Given the description of an element on the screen output the (x, y) to click on. 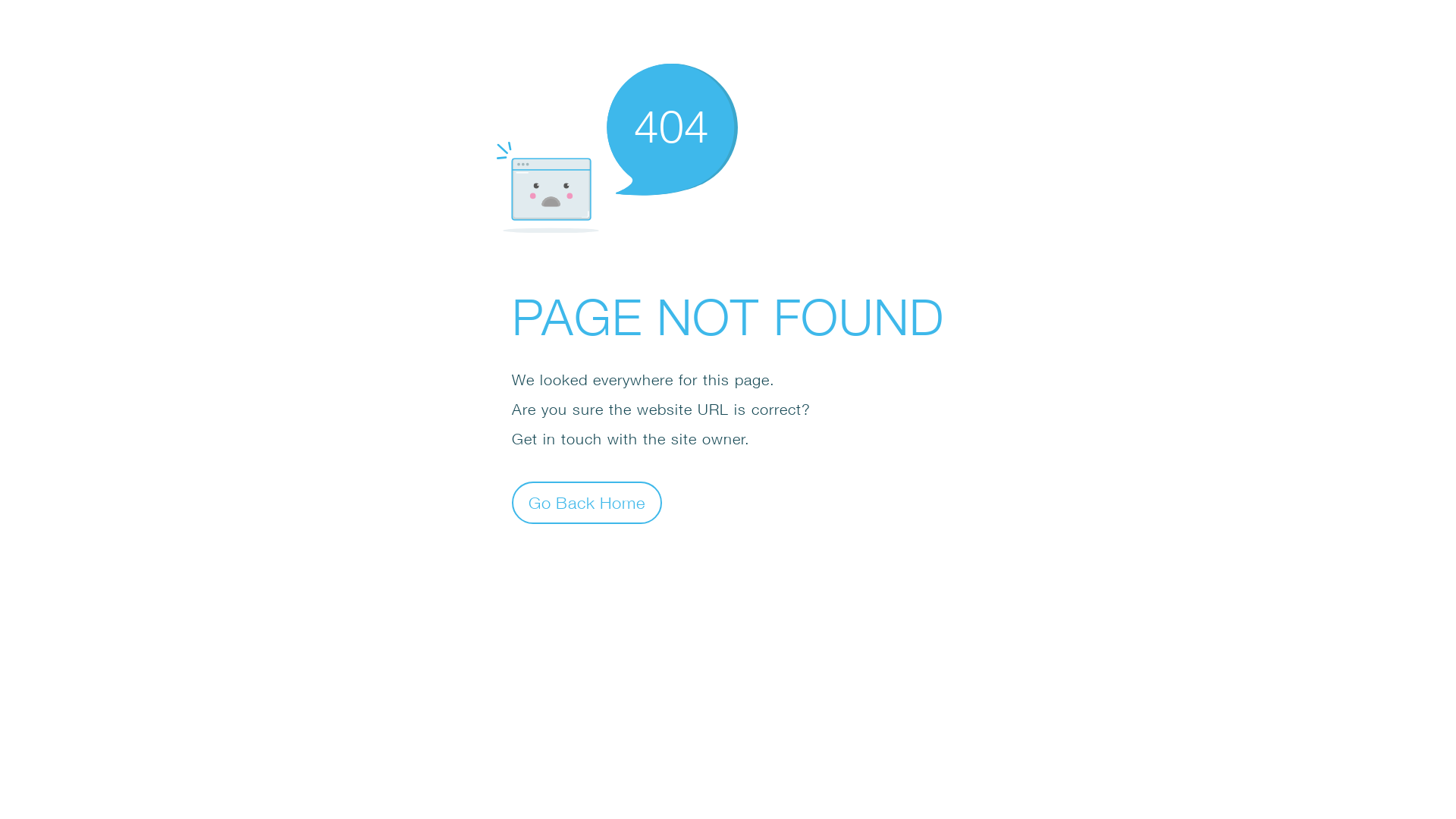
Go Back Home Element type: text (586, 502)
